Given the description of an element on the screen output the (x, y) to click on. 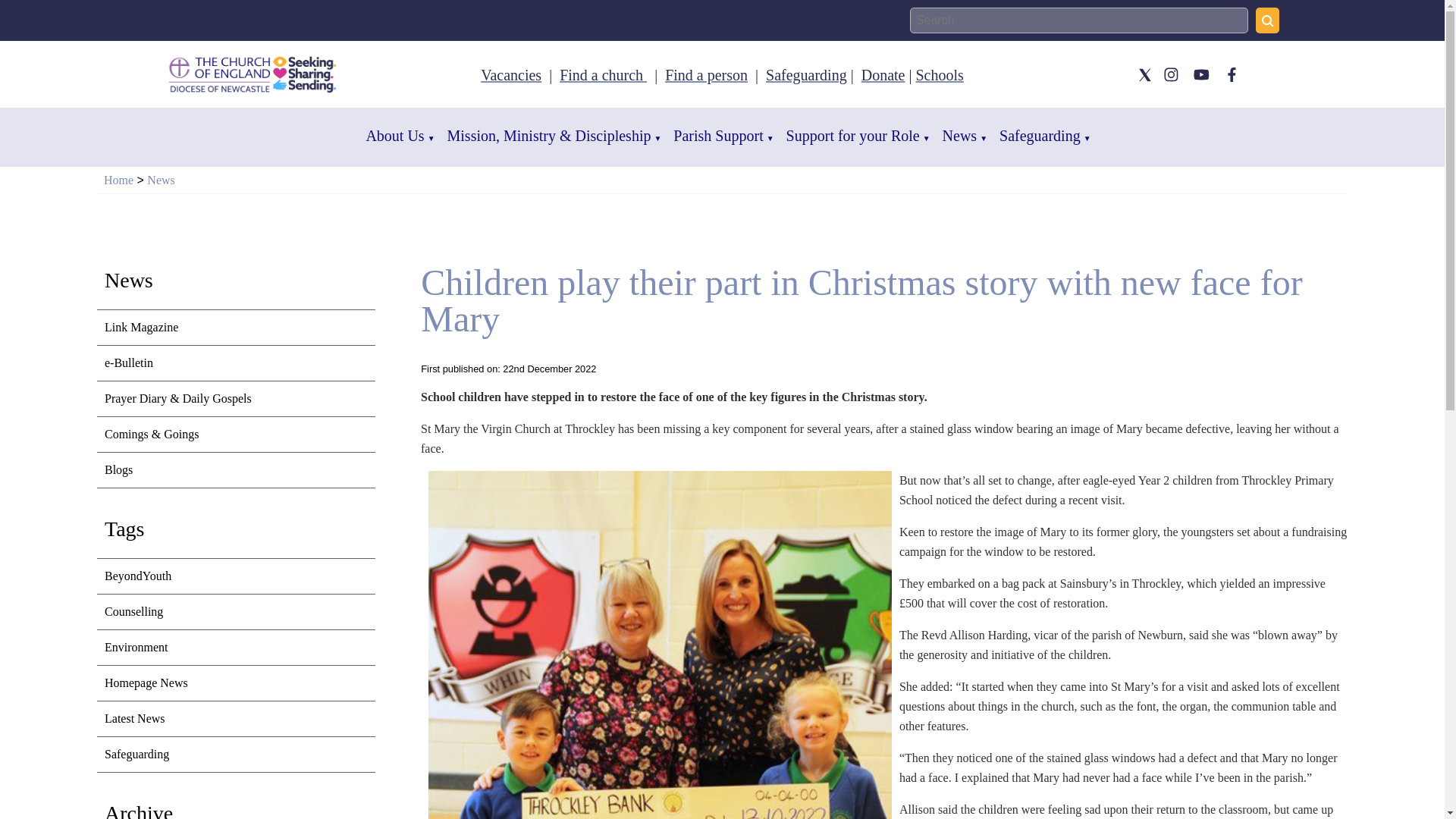
Vacancies (510, 74)
Find a church  (602, 74)
Schools (938, 74)
Safeguarding (806, 74)
Logo (252, 74)
Donate (883, 74)
Find a person (706, 74)
